Given the description of an element on the screen output the (x, y) to click on. 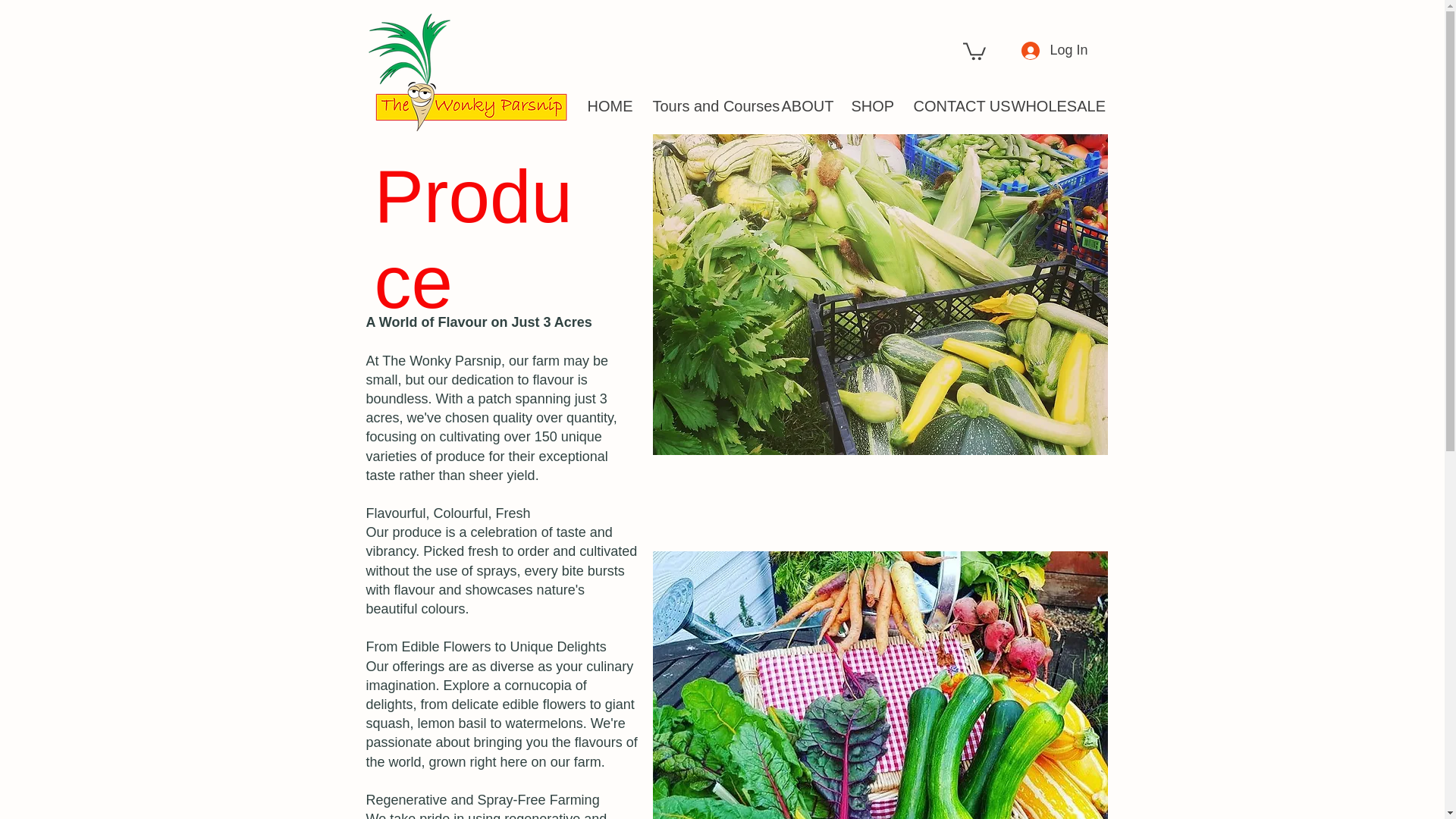
HOME (609, 106)
Log In (1040, 50)
CONTACT US (951, 106)
Tours and Courses (706, 106)
WHOLESALE (1045, 106)
SHOP (871, 106)
